Given the description of an element on the screen output the (x, y) to click on. 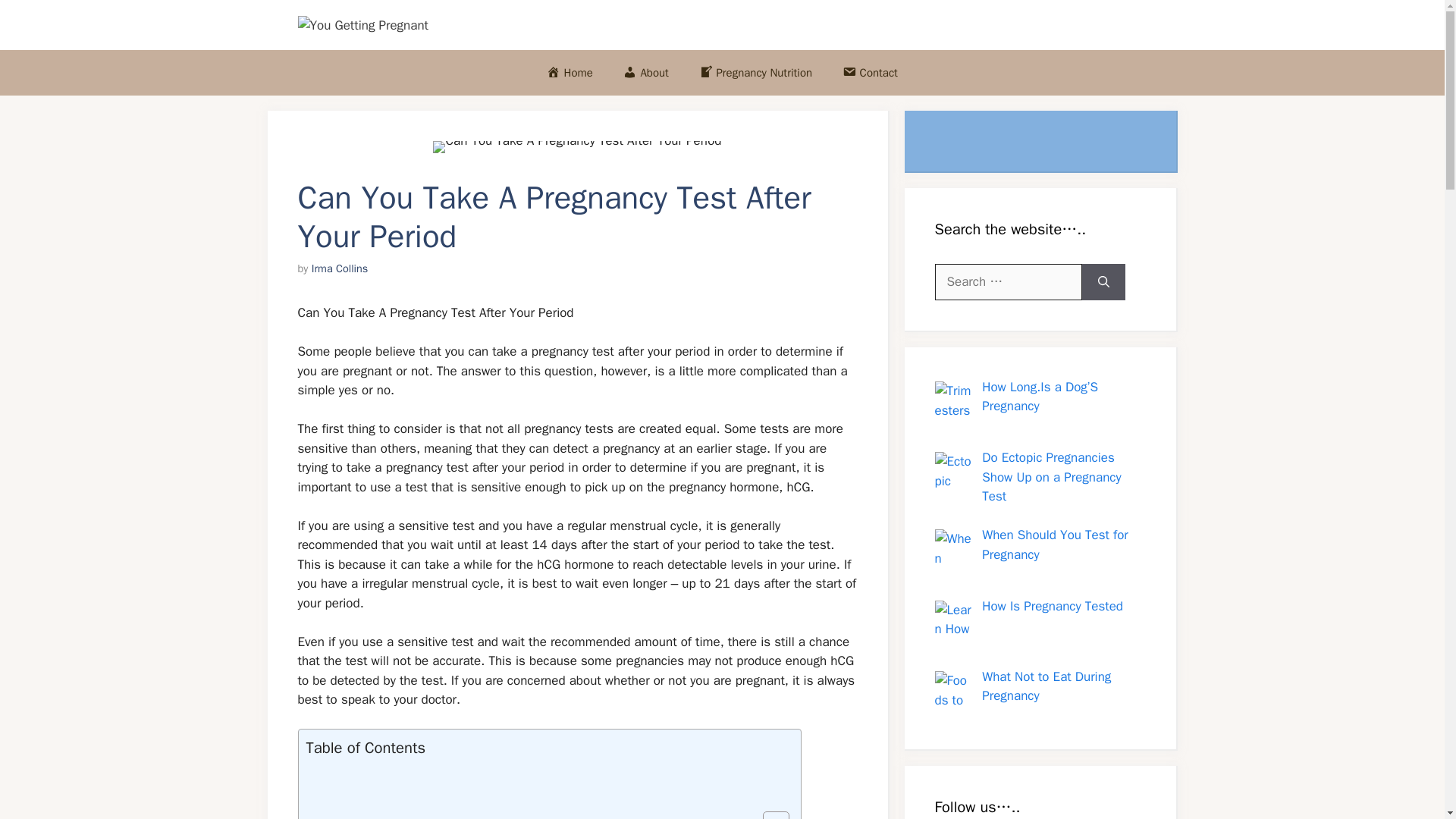
Irma Collins (339, 268)
Can You Take A Pregnancy Test After Your Period (576, 146)
View all posts by Irma Collins (339, 268)
Pregnancy Nutrition (755, 72)
Home (569, 72)
Contact (869, 72)
About (646, 72)
